Given the description of an element on the screen output the (x, y) to click on. 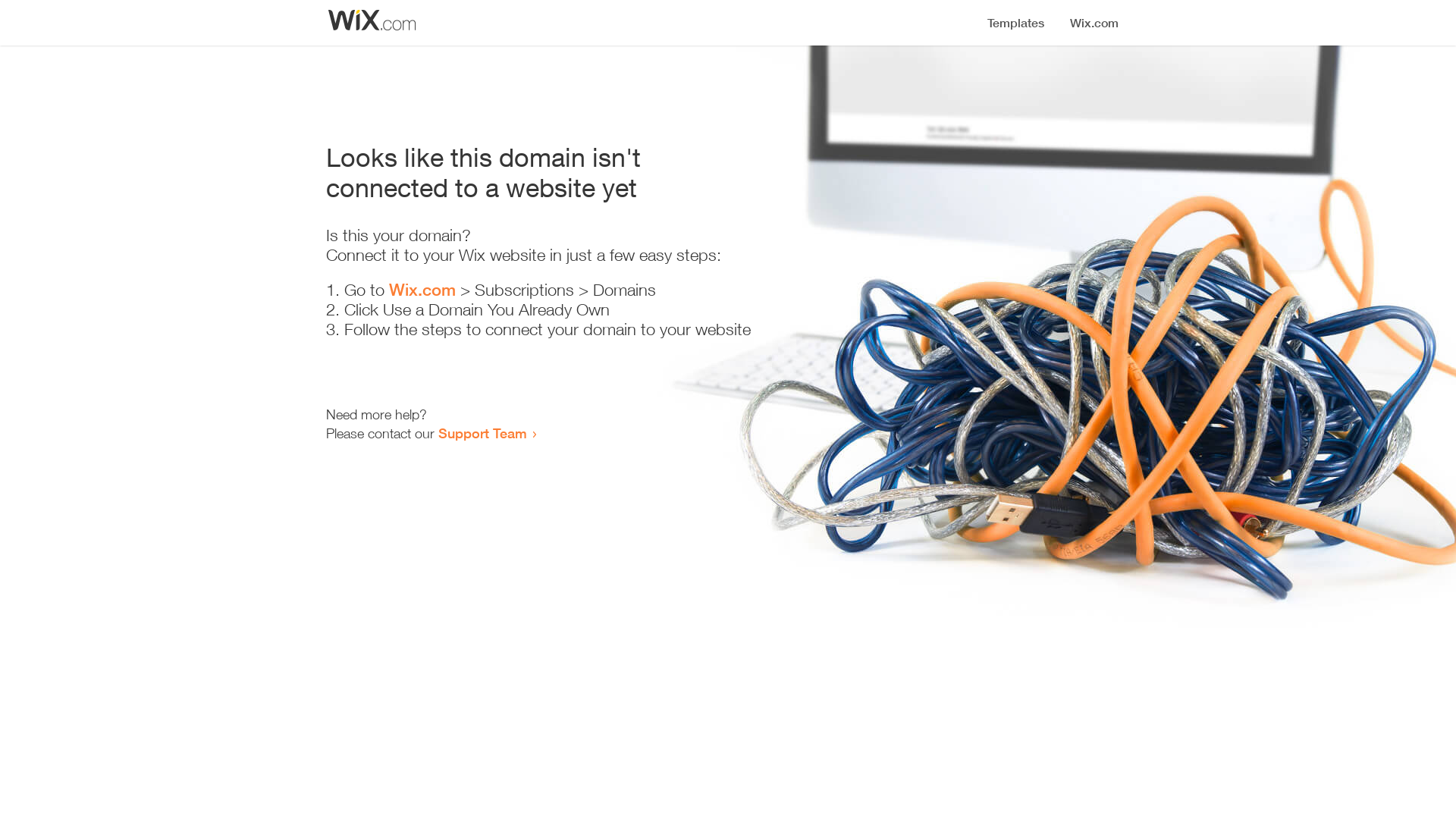
Wix.com Element type: text (422, 289)
Support Team Element type: text (482, 432)
